Given the description of an element on the screen output the (x, y) to click on. 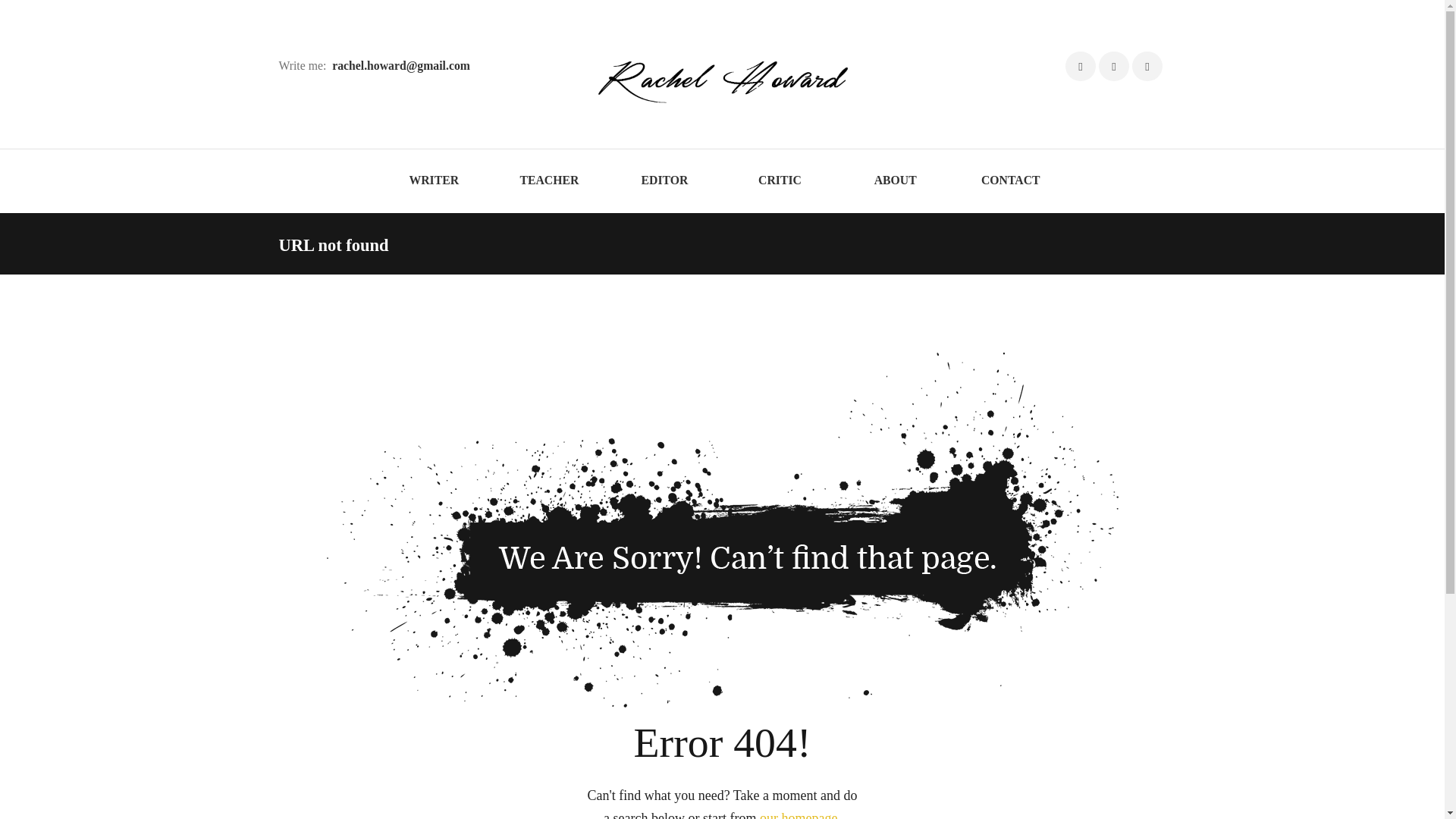
WRITER (433, 180)
CRITIC (779, 180)
ABOUT (895, 180)
EDITOR (664, 180)
TEACHER (549, 180)
CONTACT (1010, 180)
